Given the description of an element on the screen output the (x, y) to click on. 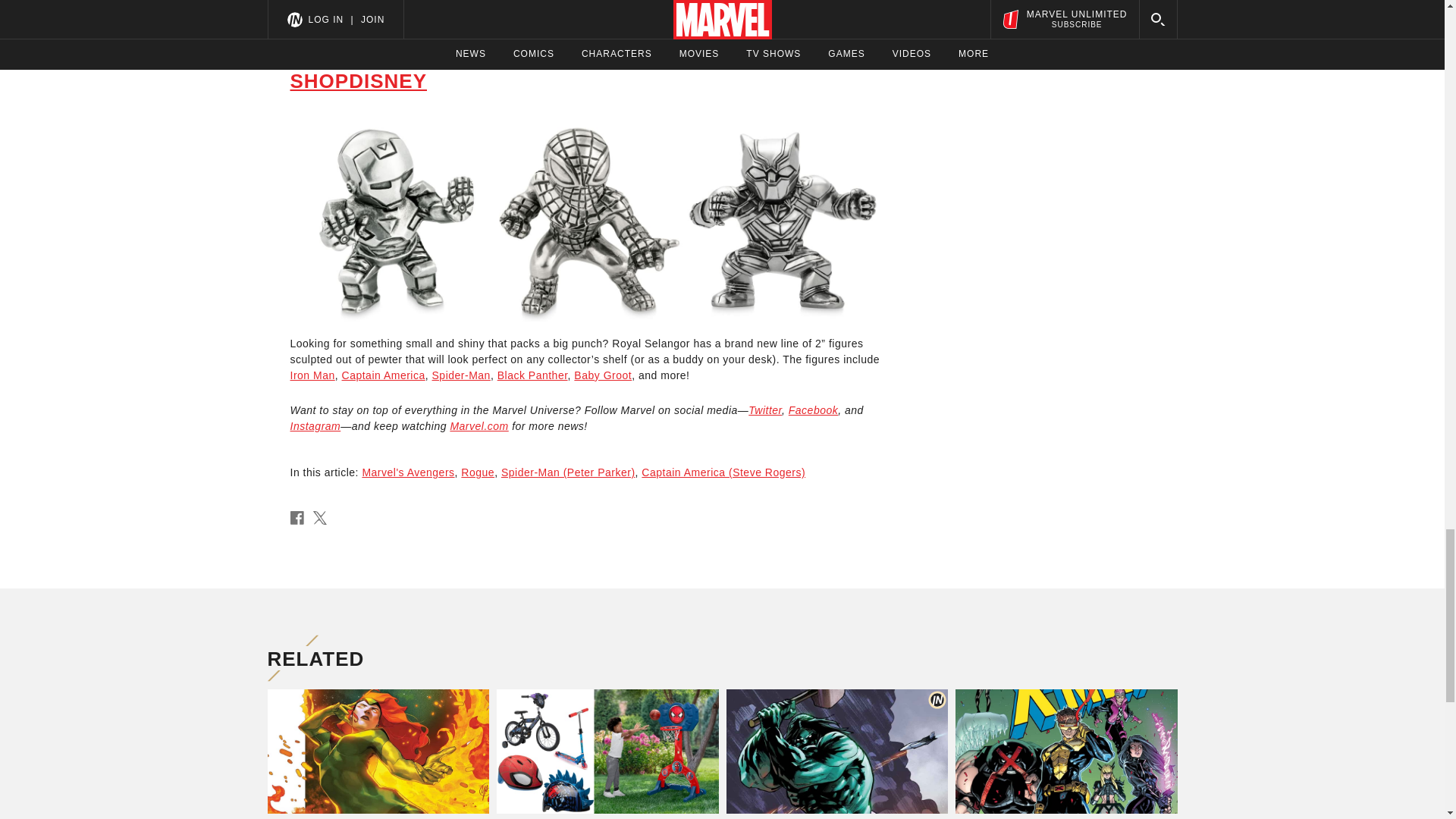
Black Panther (532, 375)
Baby Groot (602, 375)
Twitter (764, 410)
SHOPDISNEY (357, 80)
Spider-Man (461, 375)
Iron Man (311, 375)
Captain America (383, 375)
Instagram (314, 426)
Marvel.com (478, 426)
Facebook (813, 410)
